Given the description of an element on the screen output the (x, y) to click on. 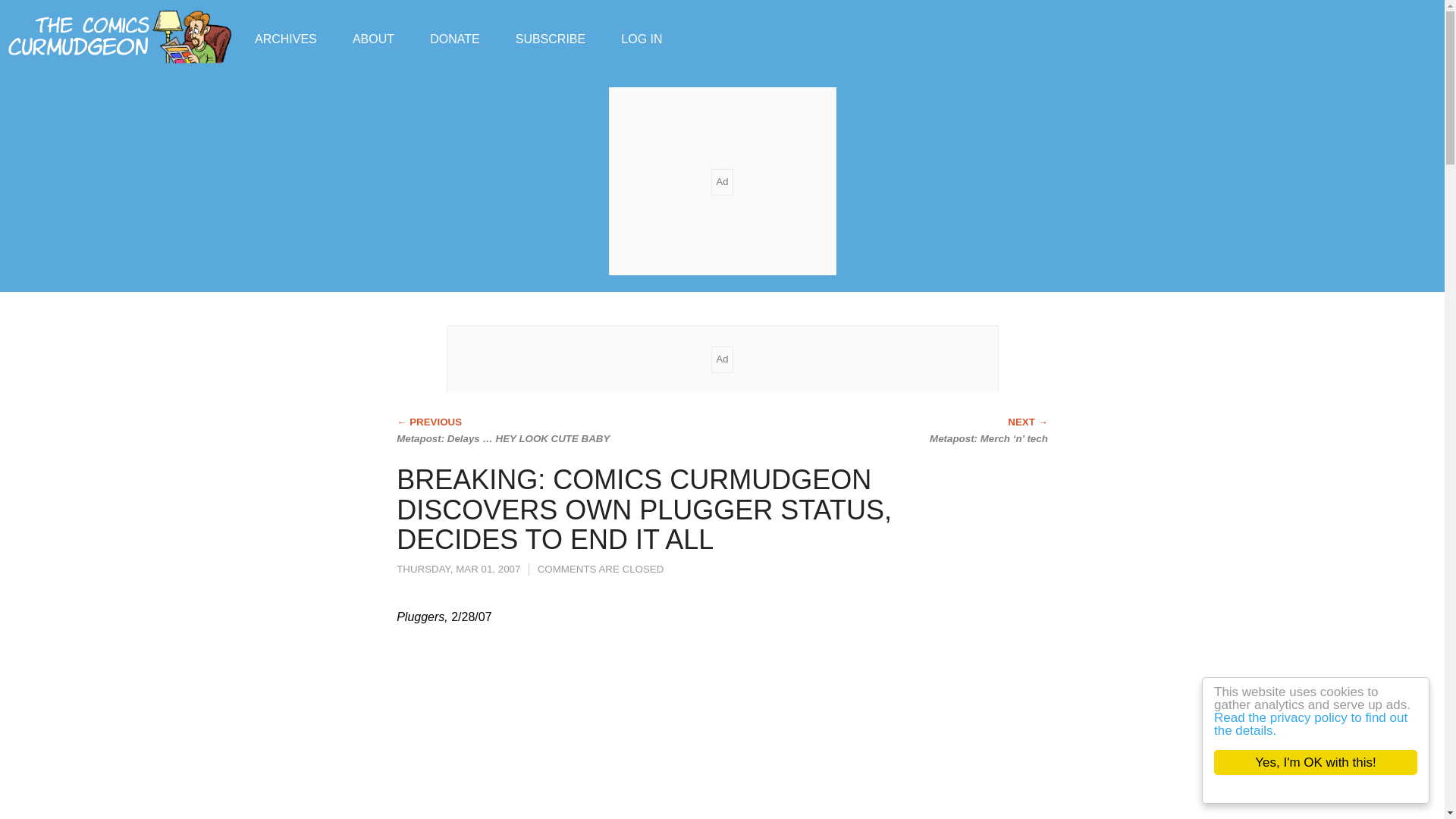
LOG IN (641, 38)
Read the privacy policy to find out the details. (1325, 723)
DONATE (454, 38)
ARCHIVES (285, 38)
ABOUT (373, 38)
SUBSCRIBE (550, 38)
Yes, I'm OK with this! (1330, 762)
